Given the description of an element on the screen output the (x, y) to click on. 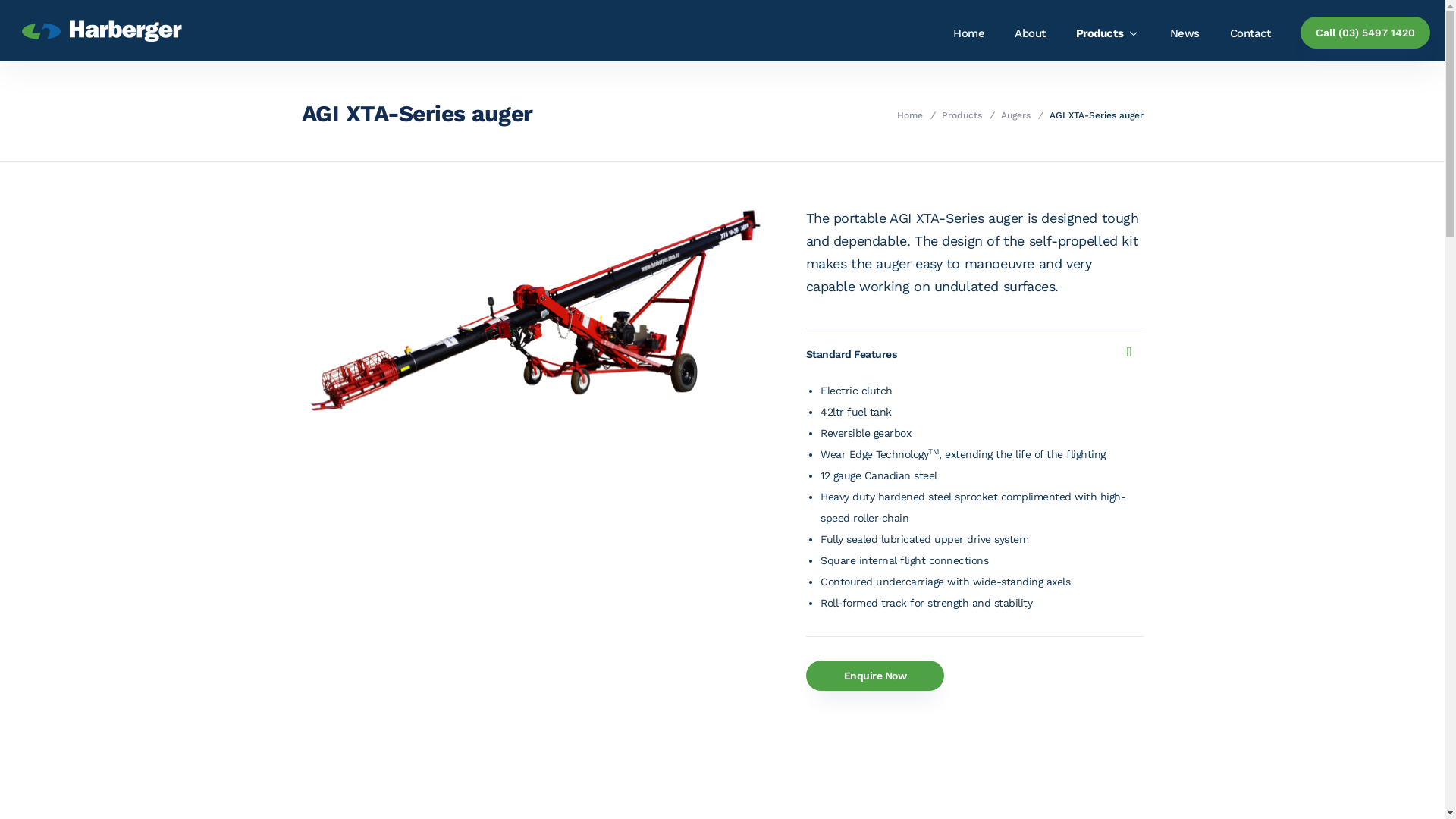
Enquire Now Element type: text (874, 675)
Call (03) 5497 1420 Element type: text (1365, 32)
Home Element type: text (968, 32)
Contact Element type: text (1250, 32)
Augers Element type: text (1015, 114)
Home Element type: text (909, 114)
News Element type: text (1184, 32)
Products Element type: text (1107, 32)
Standard Features Element type: text (968, 353)
About Element type: text (1029, 32)
Products Element type: text (961, 114)
